Given the description of an element on the screen output the (x, y) to click on. 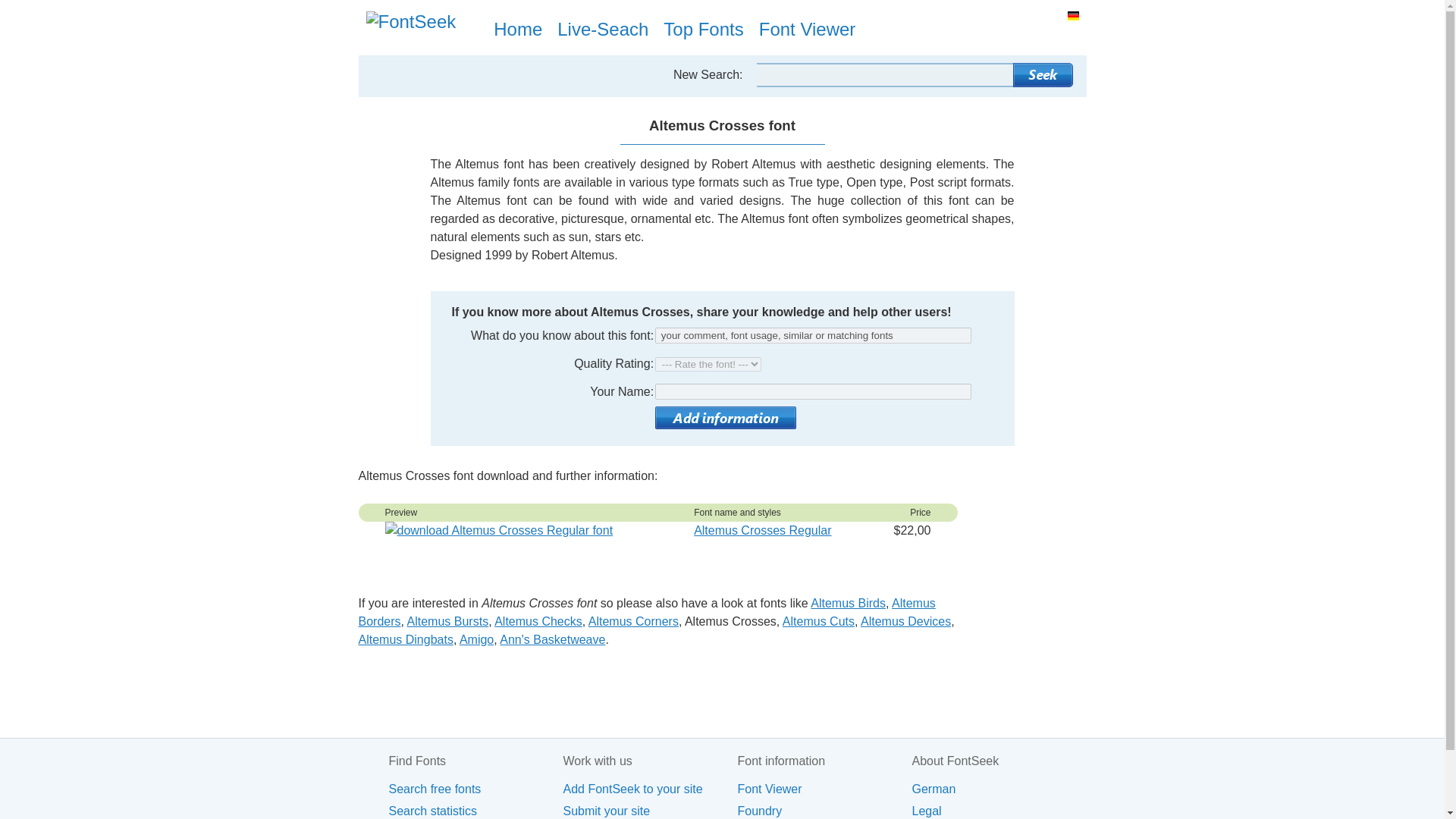
Add FontSeek to your site (649, 789)
Live-Seach (610, 25)
Search free fonts (475, 789)
Home (525, 25)
Search free fonts (475, 789)
Altemus Dingbats (405, 639)
Altemus Borders (646, 612)
Search statistics (475, 809)
Altemus Bursts (448, 621)
Legal (998, 809)
Legal (998, 809)
Home (525, 25)
Font Viewer (823, 789)
 your comment, font usage, similar or matching fonts (813, 335)
Altemus Birds (847, 603)
